Given the description of an element on the screen output the (x, y) to click on. 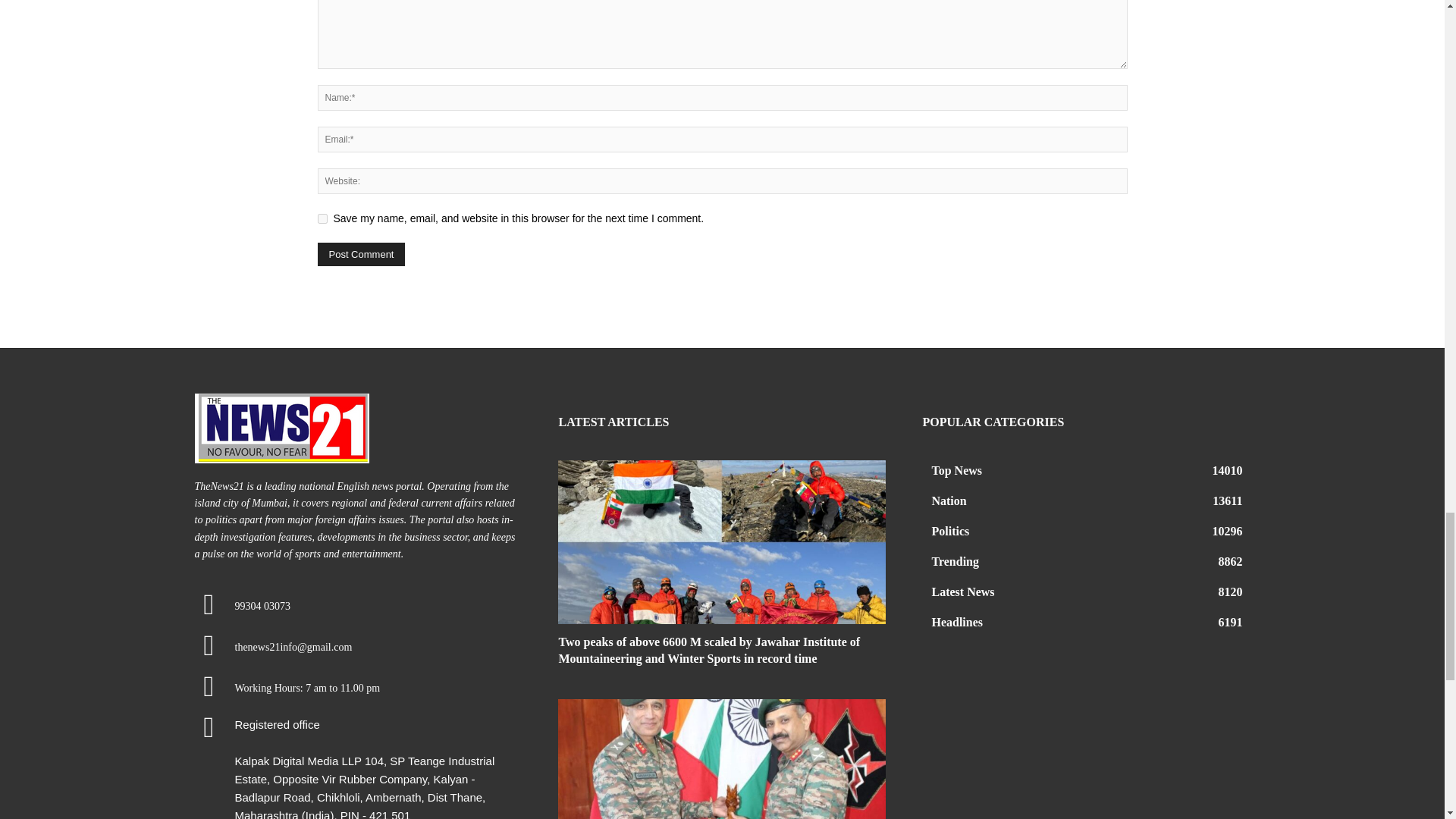
Post Comment (360, 254)
yes (321, 218)
